Given the description of an element on the screen output the (x, y) to click on. 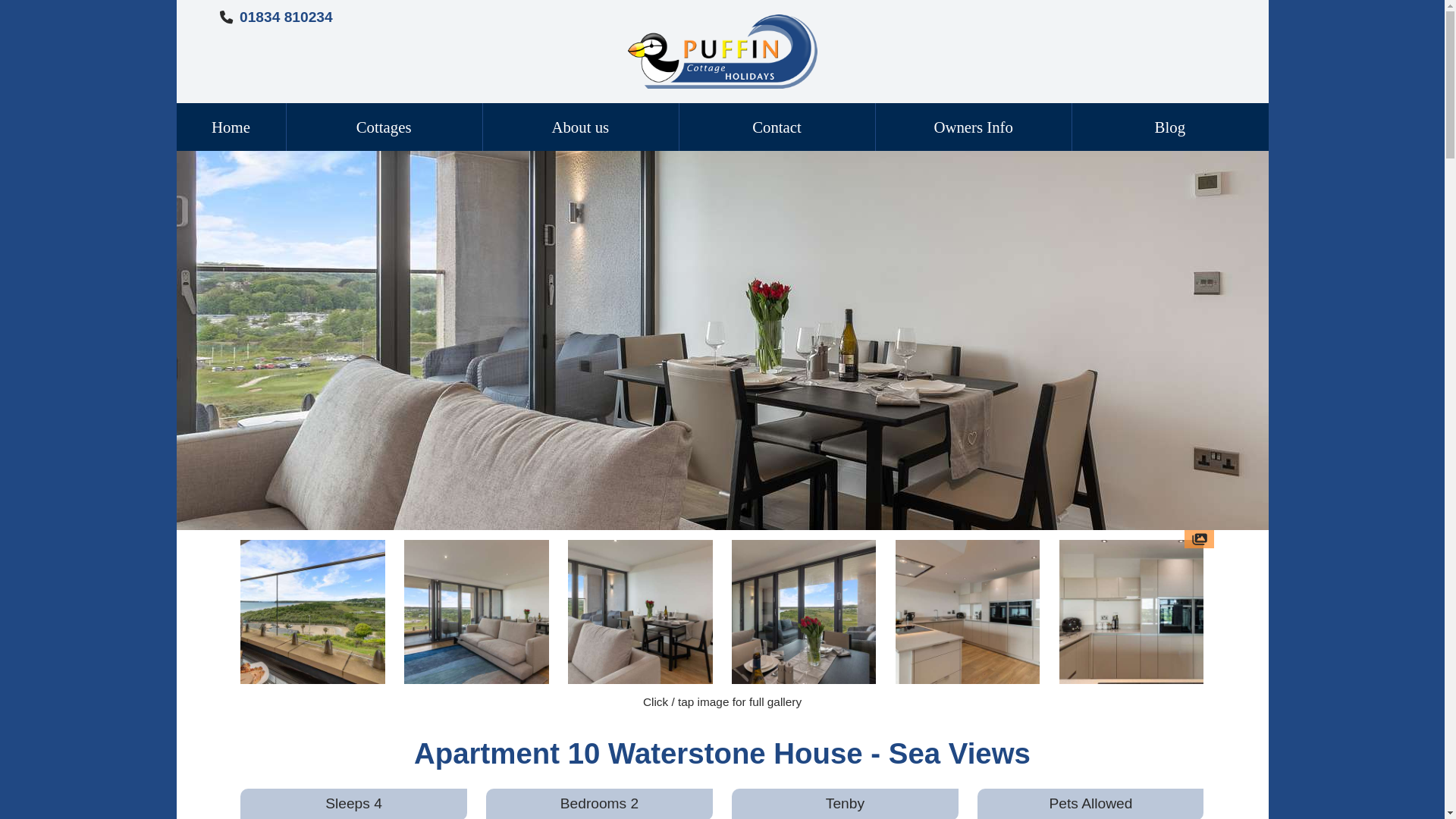
Our Blog (1169, 126)
Call 01834 810234 (286, 17)
About us (580, 126)
Puffin Cottage Holidays Home (721, 50)
Cottages (383, 126)
Home (230, 126)
Owners Info (973, 126)
Contact us (777, 126)
01834 810234 (286, 17)
Contact (777, 126)
Home page (230, 126)
About Puffin Cottage Holidays (580, 126)
Puffin Cottage Holidays Logo (721, 51)
Cottage Owners Info (973, 126)
View Cottages (383, 126)
